Given the description of an element on the screen output the (x, y) to click on. 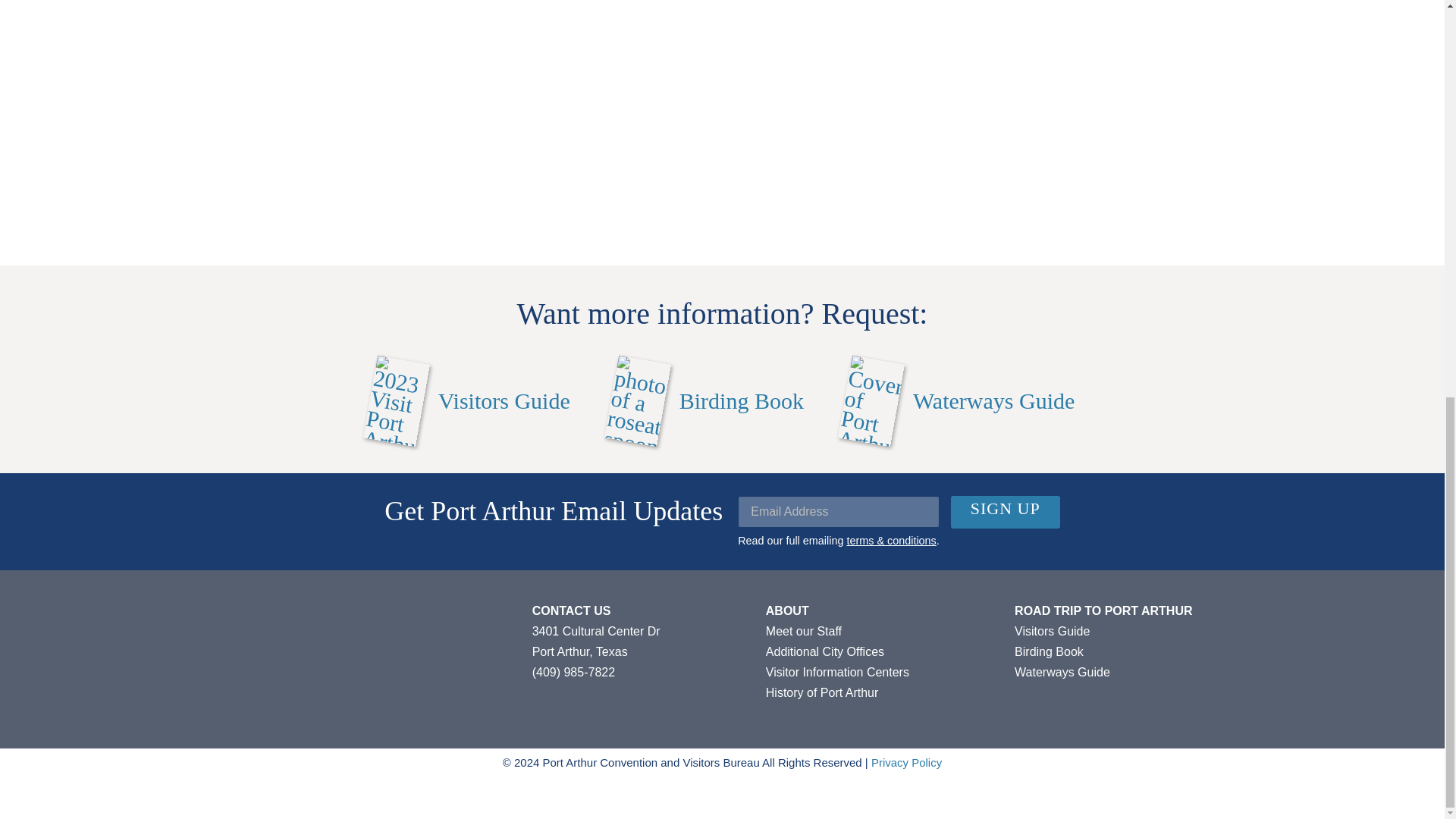
Sign Up (1004, 512)
Waterways Guide (959, 401)
Visitors Guide (469, 401)
Birding Book (707, 401)
